Given the description of an element on the screen output the (x, y) to click on. 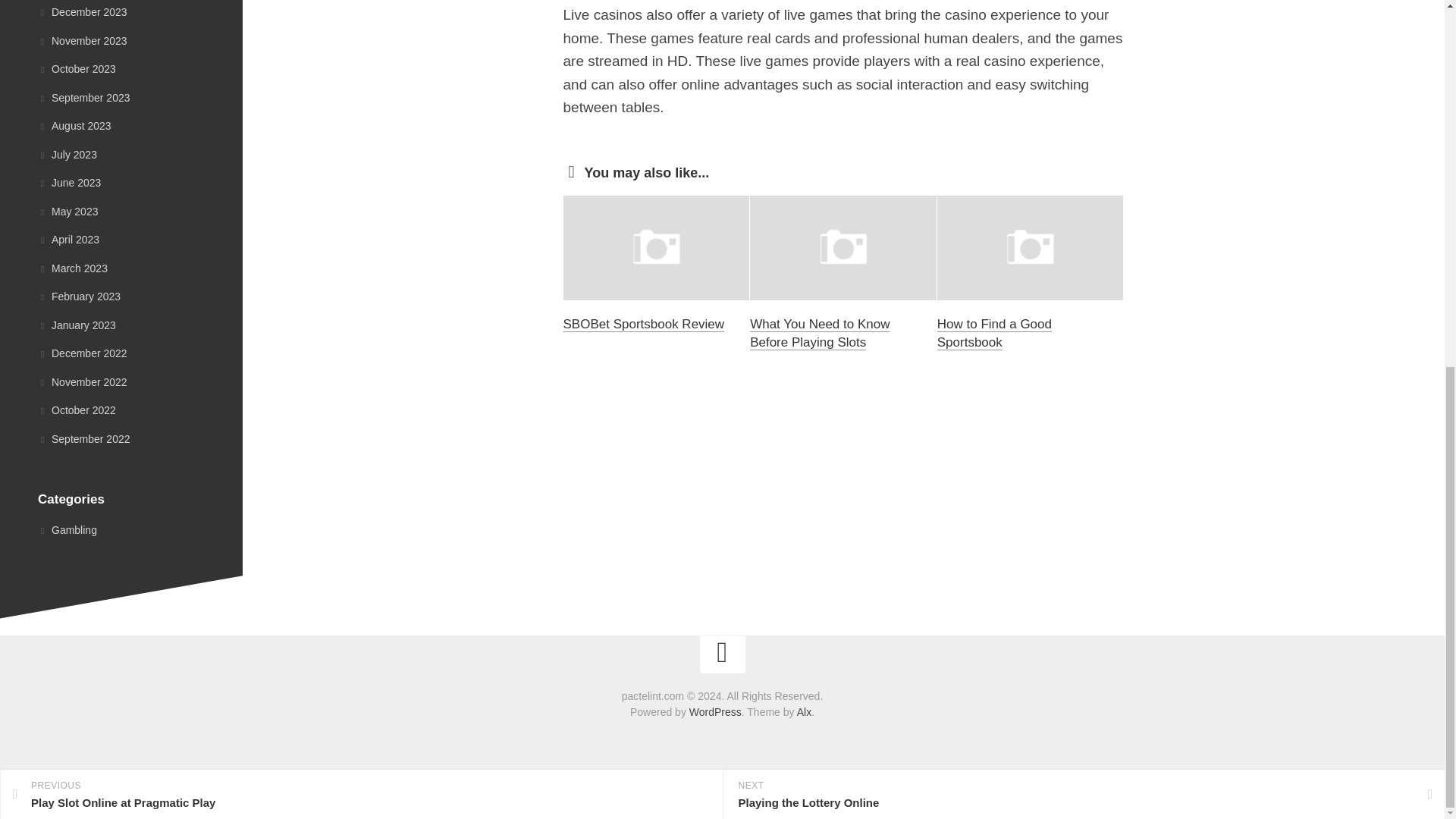
November 2023 (82, 39)
January 2023 (361, 132)
November 2022 (76, 325)
October 2023 (82, 381)
May 2023 (76, 69)
February 2023 (67, 211)
June 2023 (78, 296)
August 2023 (68, 182)
March 2023 (74, 125)
What You Need to Know Before Playing Slots (72, 267)
April 2023 (819, 332)
How to Find a Good Sportsbook (68, 239)
December 2023 (994, 332)
October 2022 (82, 11)
